Given the description of an element on the screen output the (x, y) to click on. 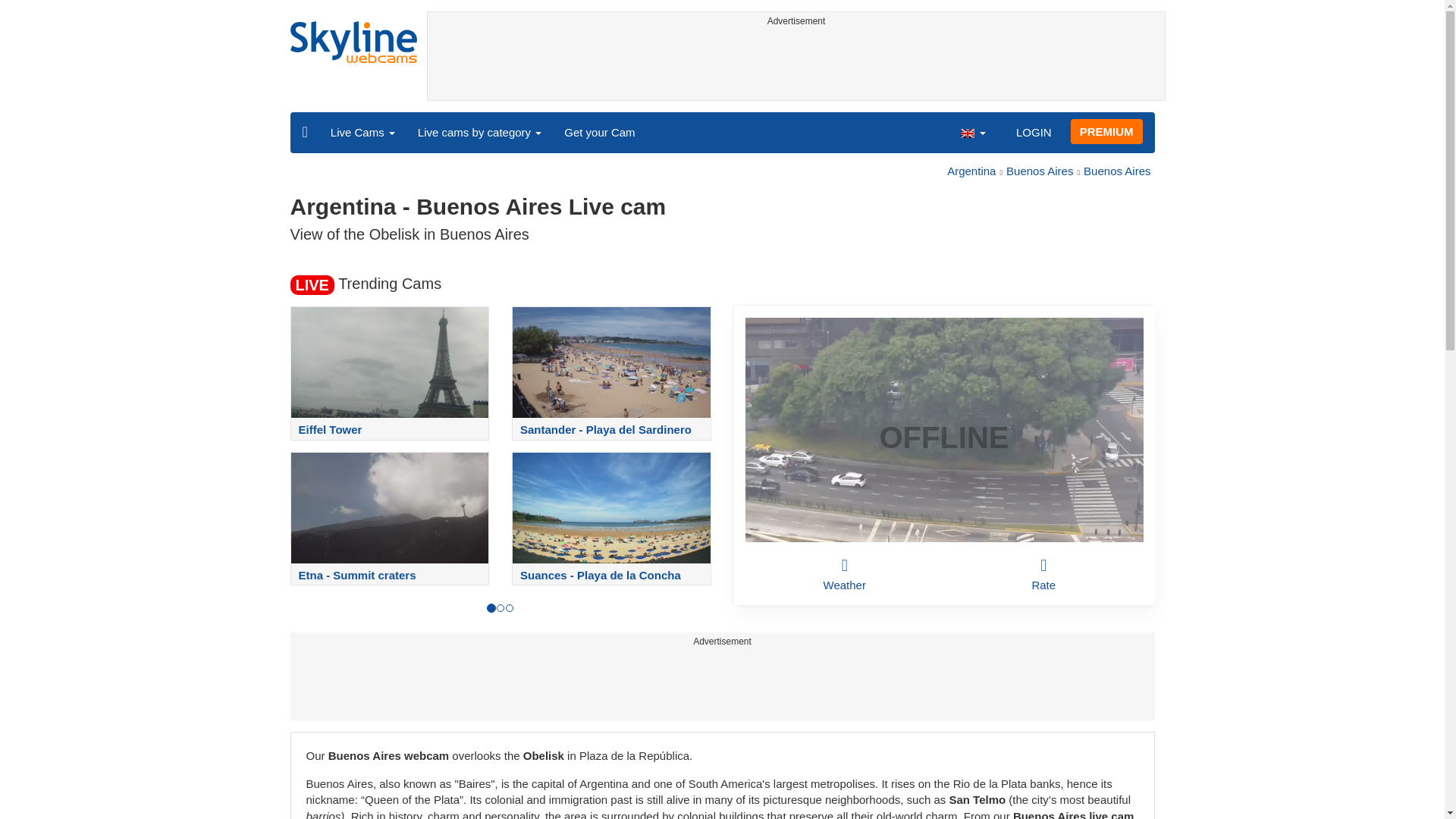
Live Cams (362, 132)
Advertisement (721, 685)
Weather forecast (845, 573)
Advertisement (797, 65)
